Given the description of an element on the screen output the (x, y) to click on. 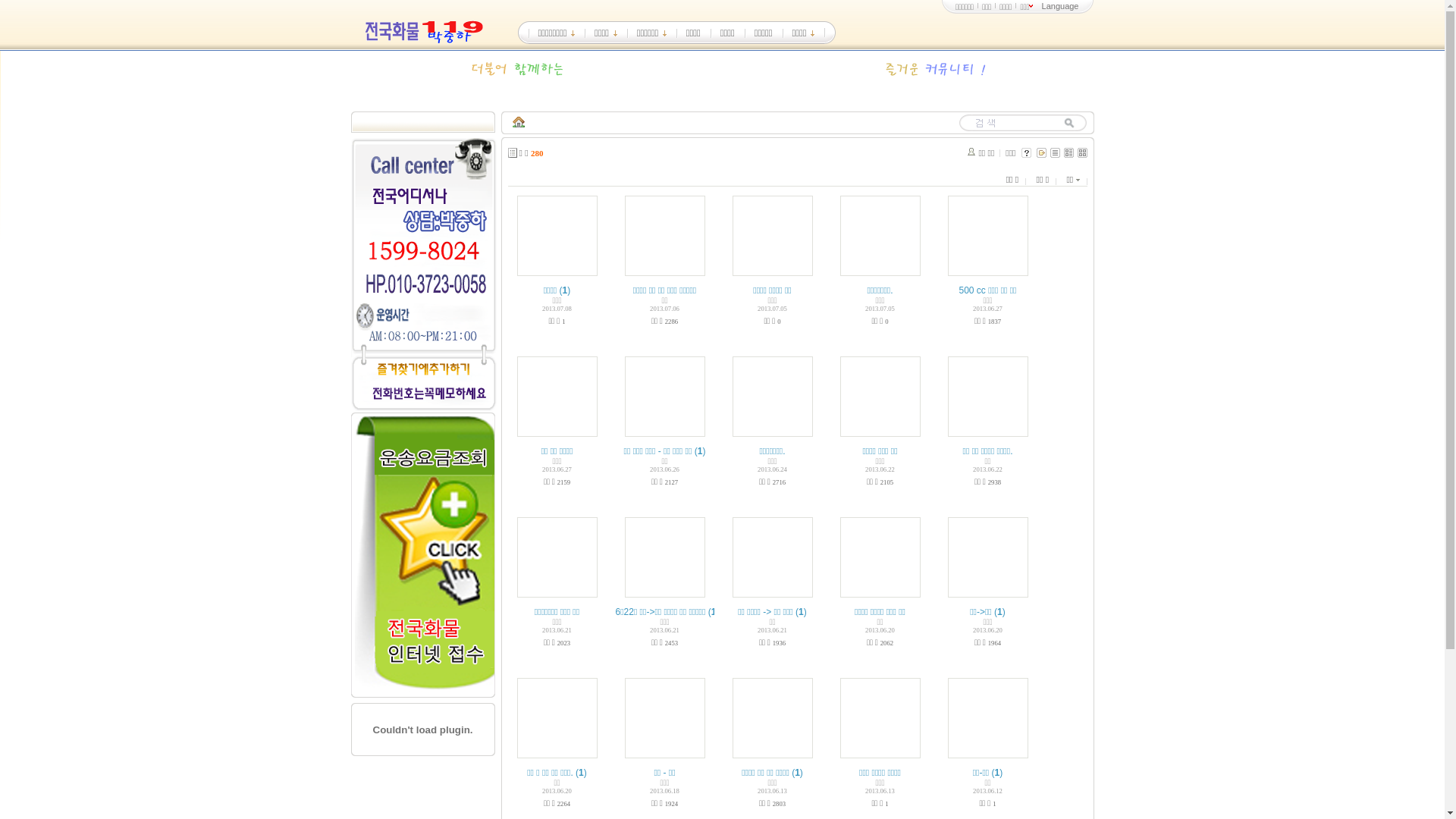
Language Element type: text (1060, 5)
HOME Element type: hover (518, 123)
